Given the description of an element on the screen output the (x, y) to click on. 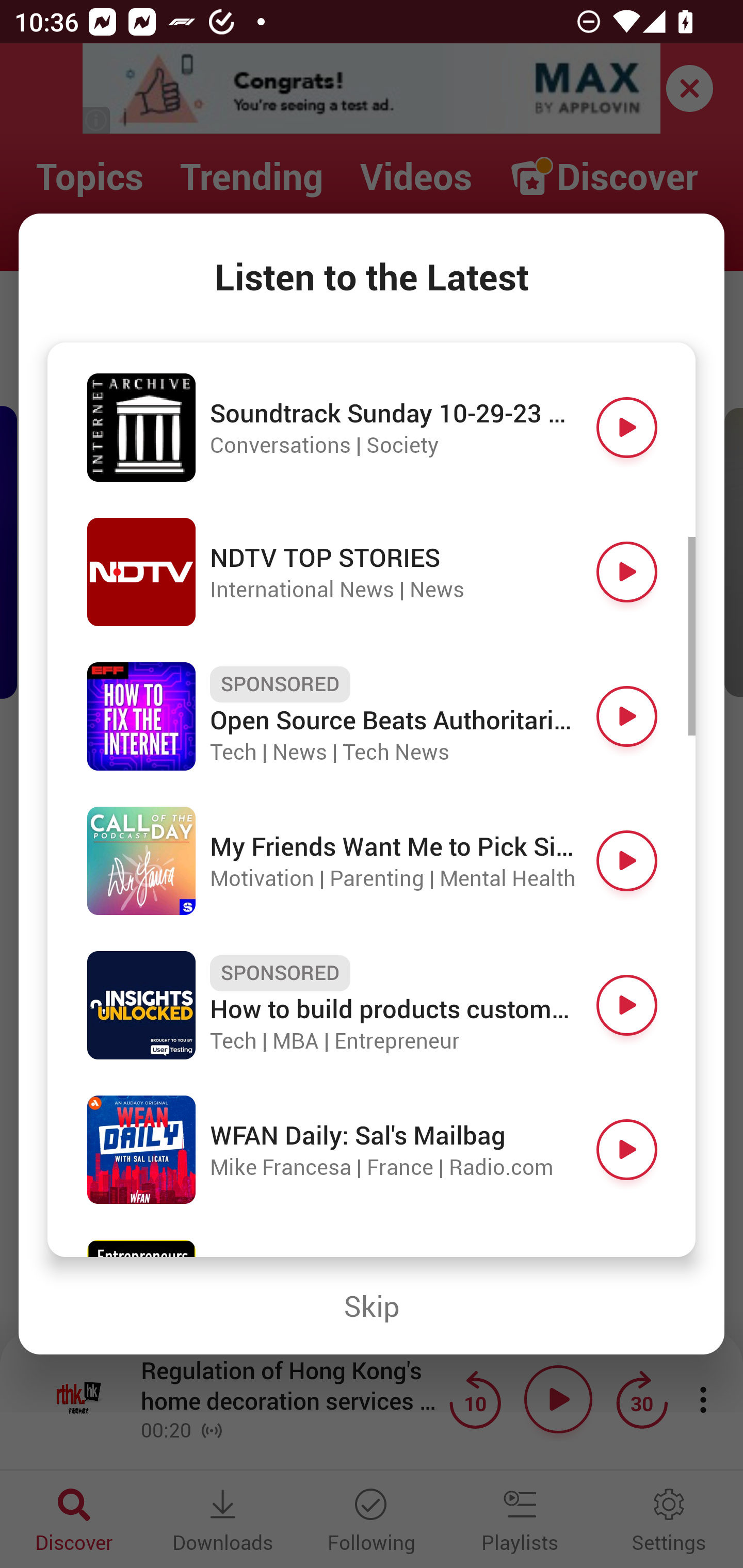
Skip (371, 1305)
